Given the description of an element on the screen output the (x, y) to click on. 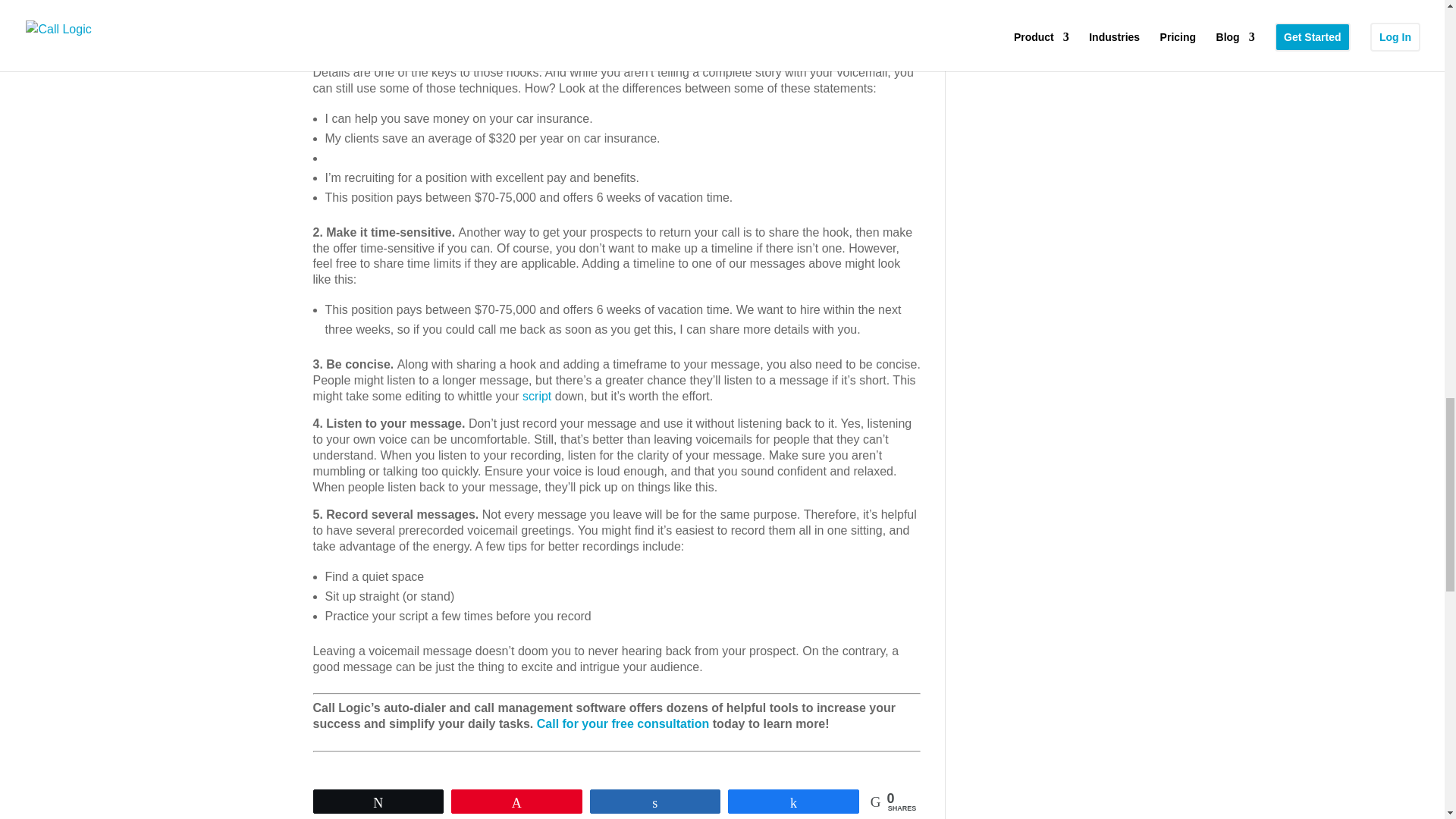
script (536, 395)
Call for your free consultation (625, 723)
